Given the description of an element on the screen output the (x, y) to click on. 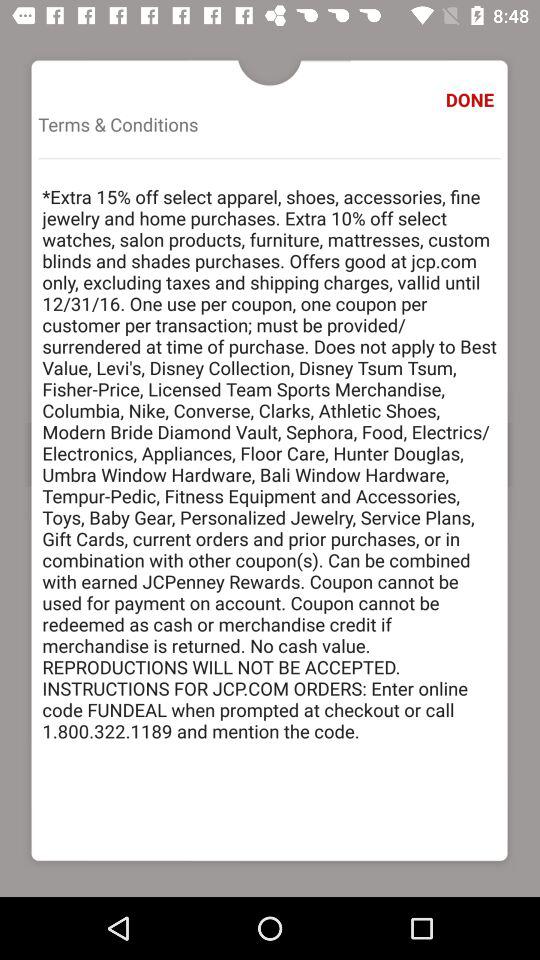
select the item next to the terms & conditions icon (472, 99)
